Given the description of an element on the screen output the (x, y) to click on. 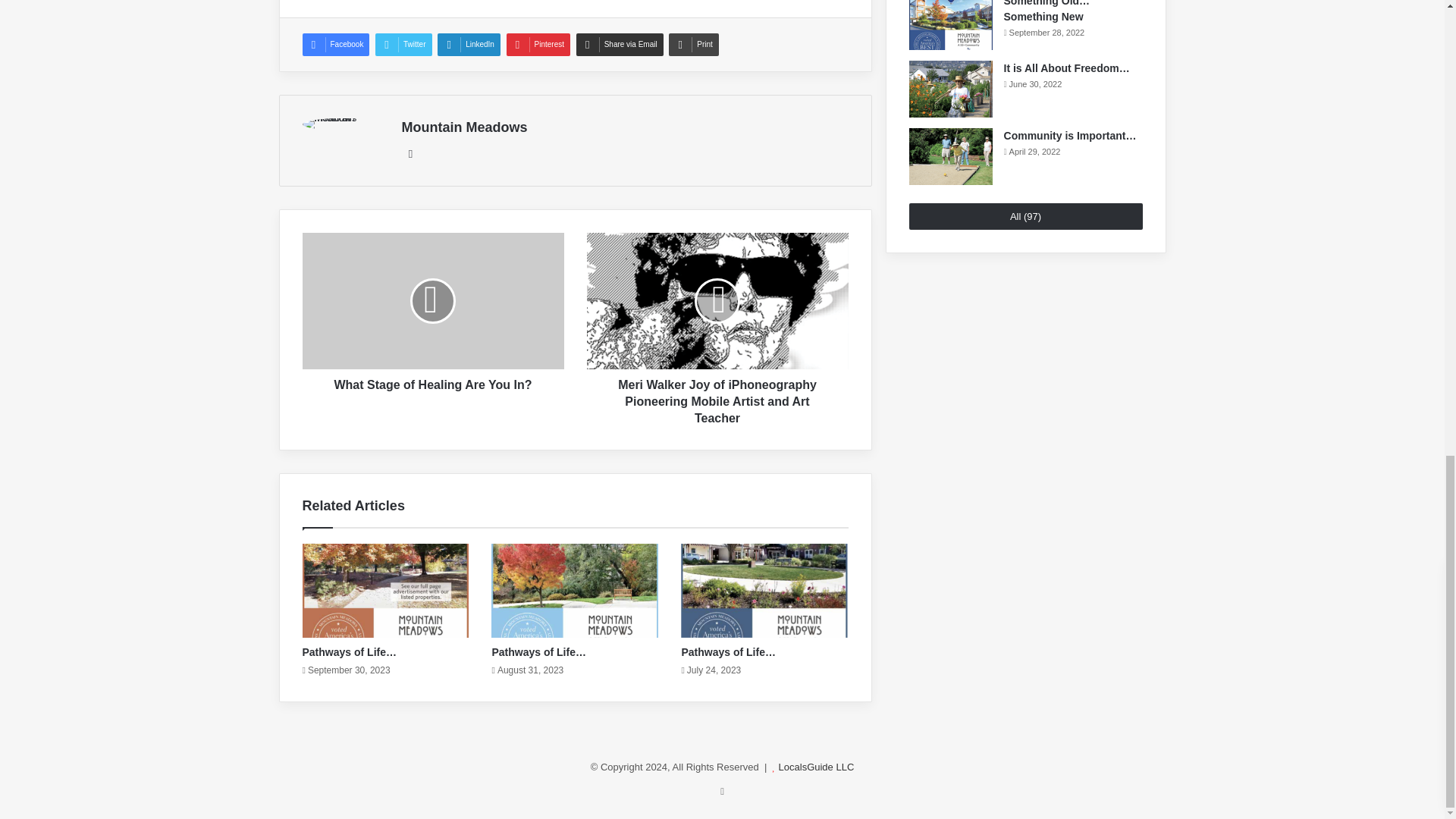
LinkedIn (469, 44)
Website (410, 153)
Pinterest (538, 44)
LinkedIn (469, 44)
Facebook (335, 44)
Print (693, 44)
Pinterest (538, 44)
Share via Email (619, 44)
Facebook (335, 44)
What Stage of Healing Are You In? (432, 381)
Print (693, 44)
Share via Email (619, 44)
Mountain Meadows (464, 127)
Twitter (402, 44)
